Given the description of an element on the screen output the (x, y) to click on. 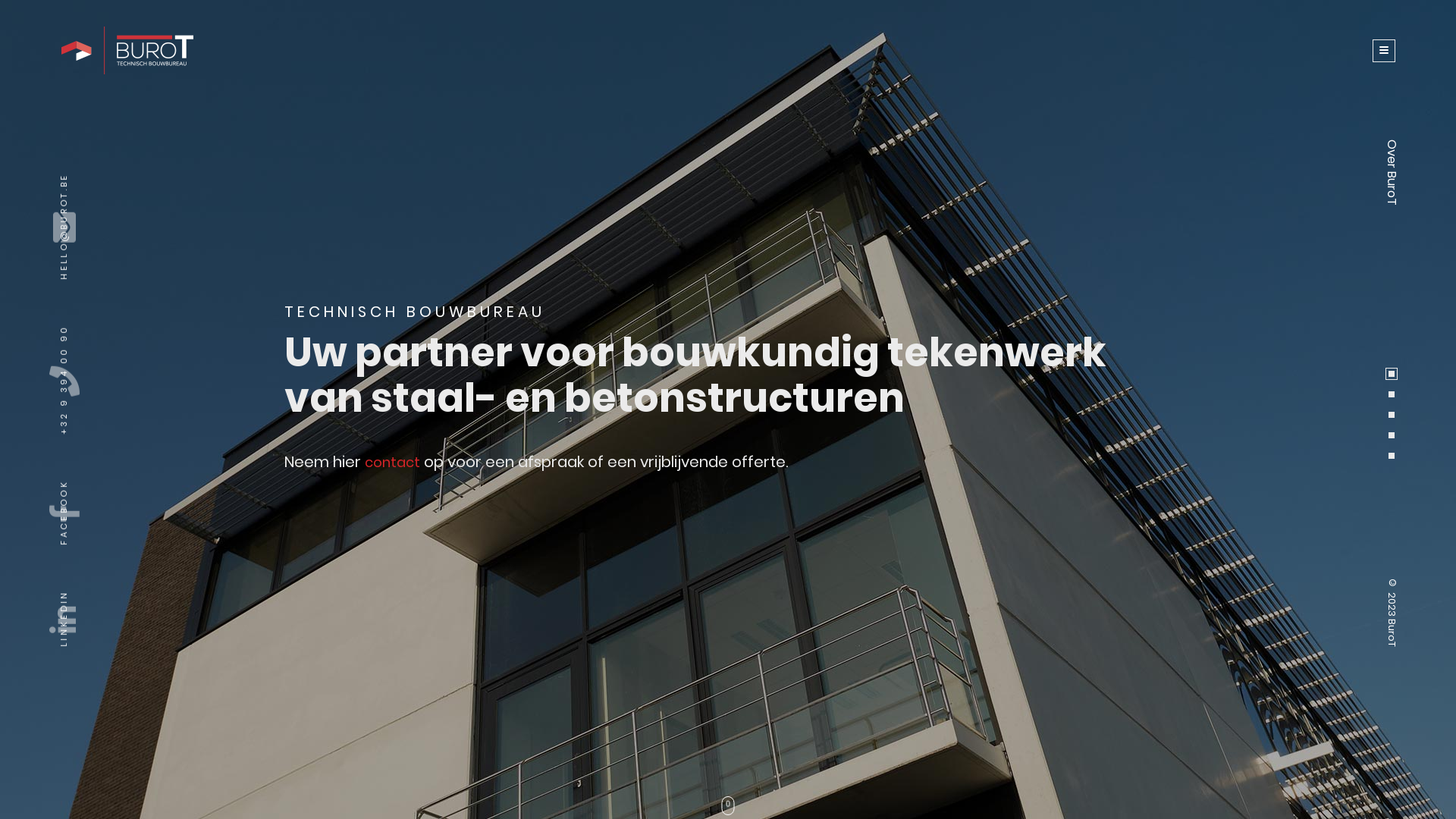
+32 9 394 00 90 Element type: text (322, 393)
HELLO@BUROT.BE Element type: text (122, 167)
privacy policy Element type: text (983, 467)
ERVARING Element type: text (376, 591)
KWALITEIT Element type: text (606, 591)
Helix Bouw Element type: text (418, 406)
A-Interior Element type: text (474, 406)
+32 9 394 00 90 Element type: text (124, 318)
Premonta Element type: text (309, 406)
Samonco Element type: text (363, 406)
LINKEDIN Element type: text (97, 584)
Stuur bericht Element type: text (1121, 505)
Overzicht van de diensten van BuroT Element type: hover (158, 50)
FACEBOOK Element type: text (101, 473)
PROFESSIONEEL Element type: text (396, 533)
Avicon groep Element type: text (698, 406)
BuroT Element type: text (529, 406)
FLEXIBEL Element type: text (598, 533)
contact Element type: text (392, 462)
hello@burot.be Element type: text (324, 447)
